Given the description of an element on the screen output the (x, y) to click on. 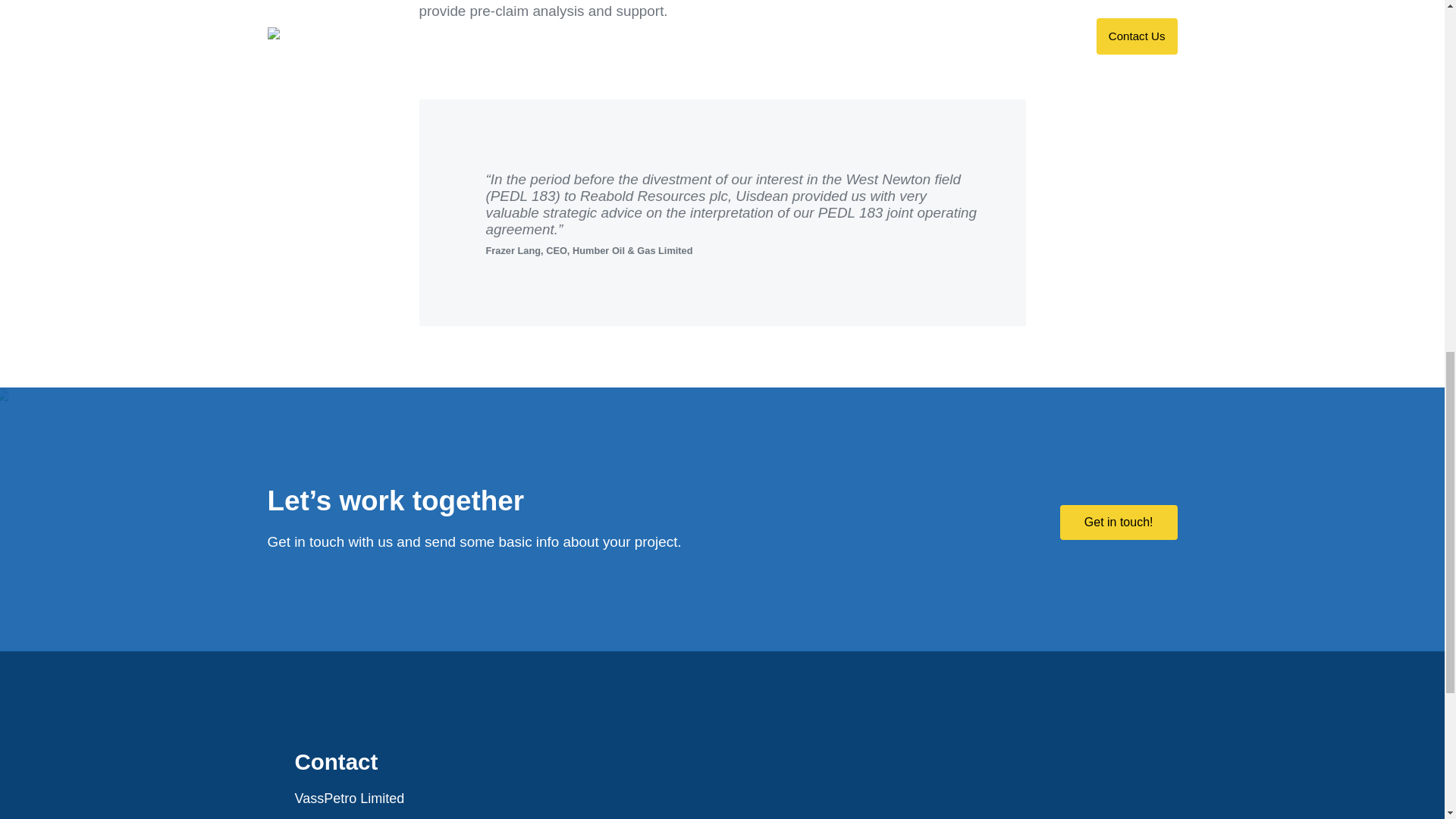
Get in touch! (1118, 522)
